Given the description of an element on the screen output the (x, y) to click on. 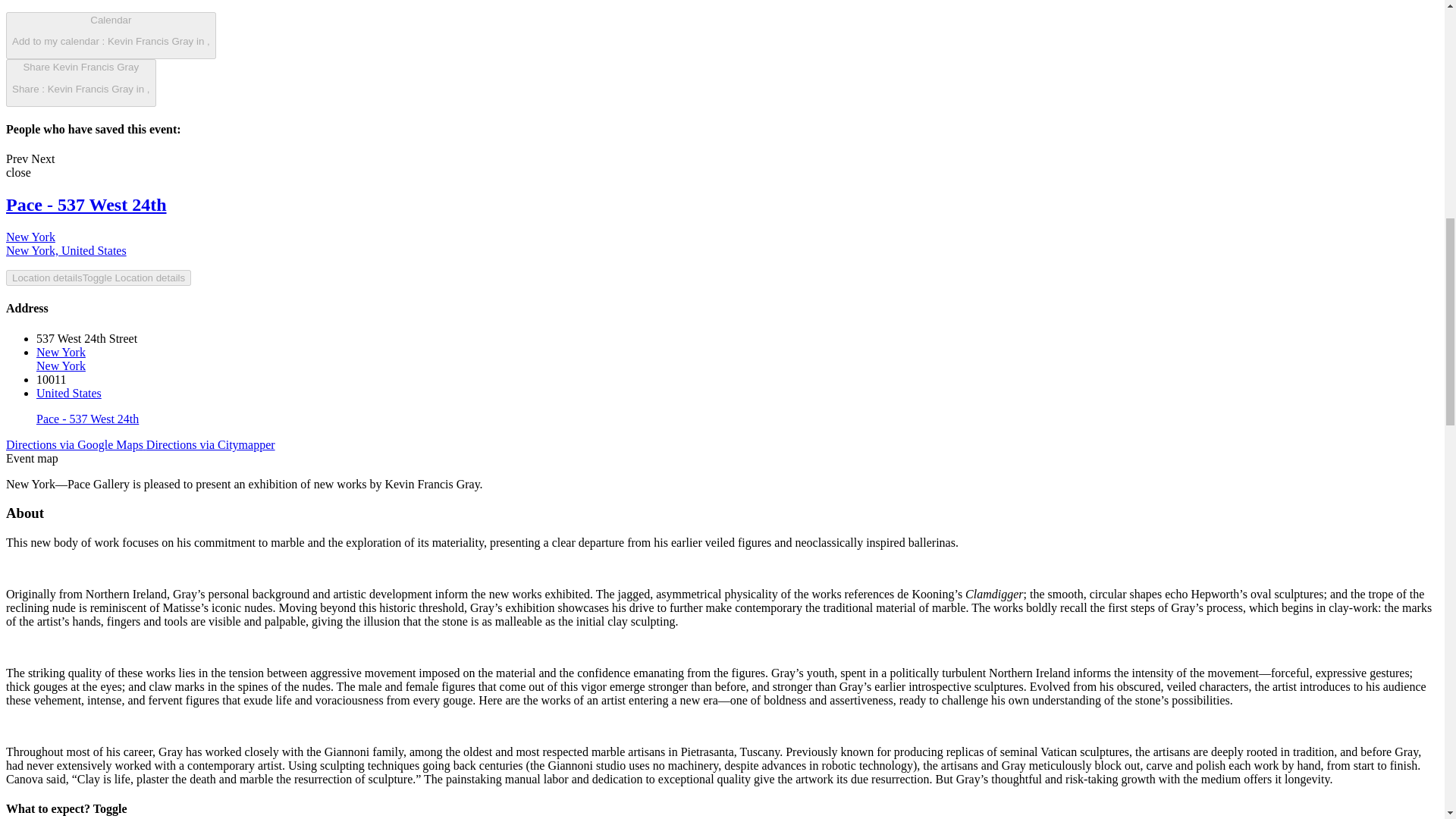
close (65, 243)
United States (17, 172)
Next (68, 392)
Directions via Google Maps (80, 82)
Prev (42, 158)
Pace - 537 West 24th (76, 444)
Pace - 537 West 24th (16, 158)
Location detailsToggle Location details (86, 204)
